Given the description of an element on the screen output the (x, y) to click on. 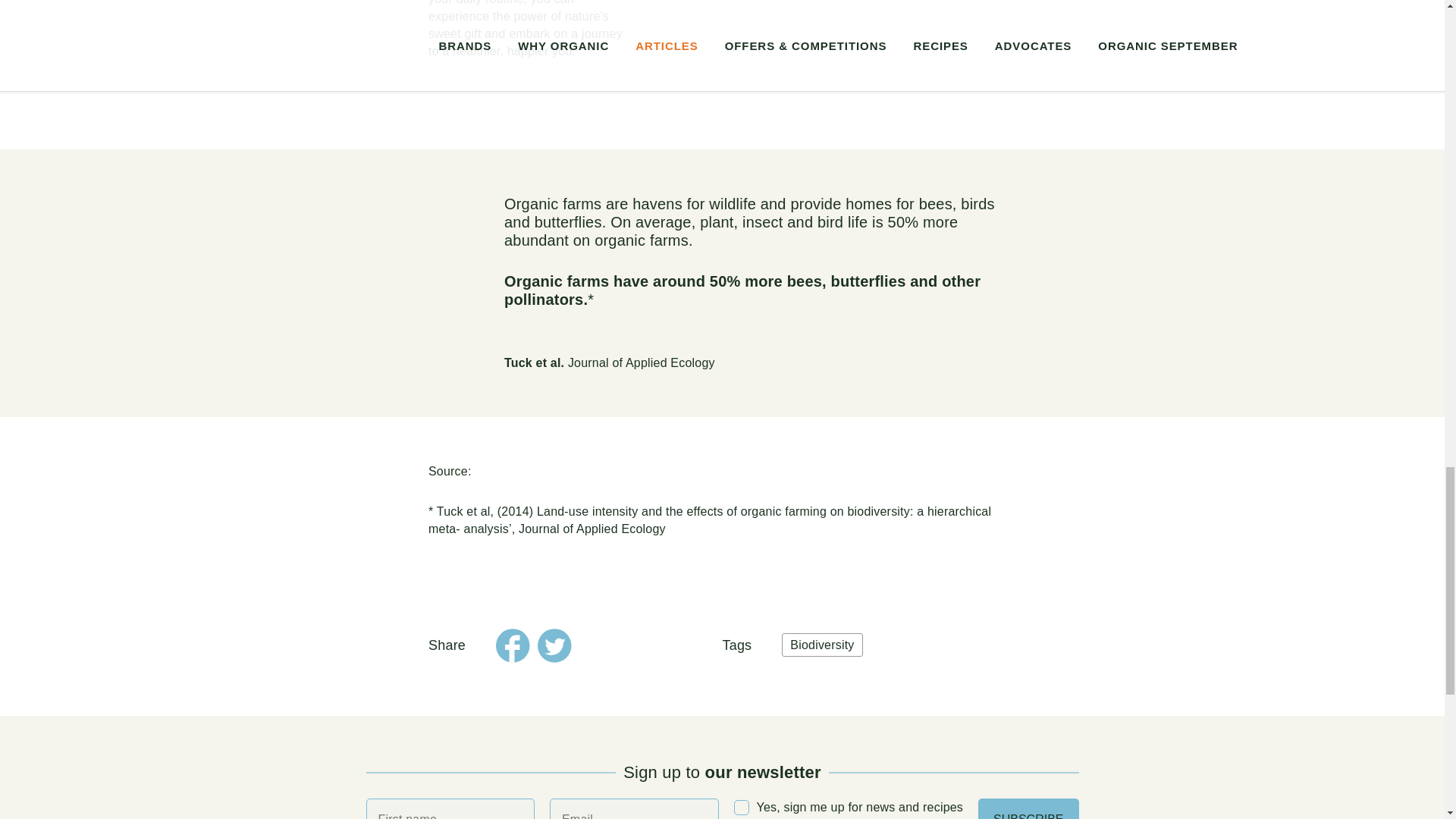
Biodiversity (821, 644)
SUBSCRIBE (1028, 808)
